Given the description of an element on the screen output the (x, y) to click on. 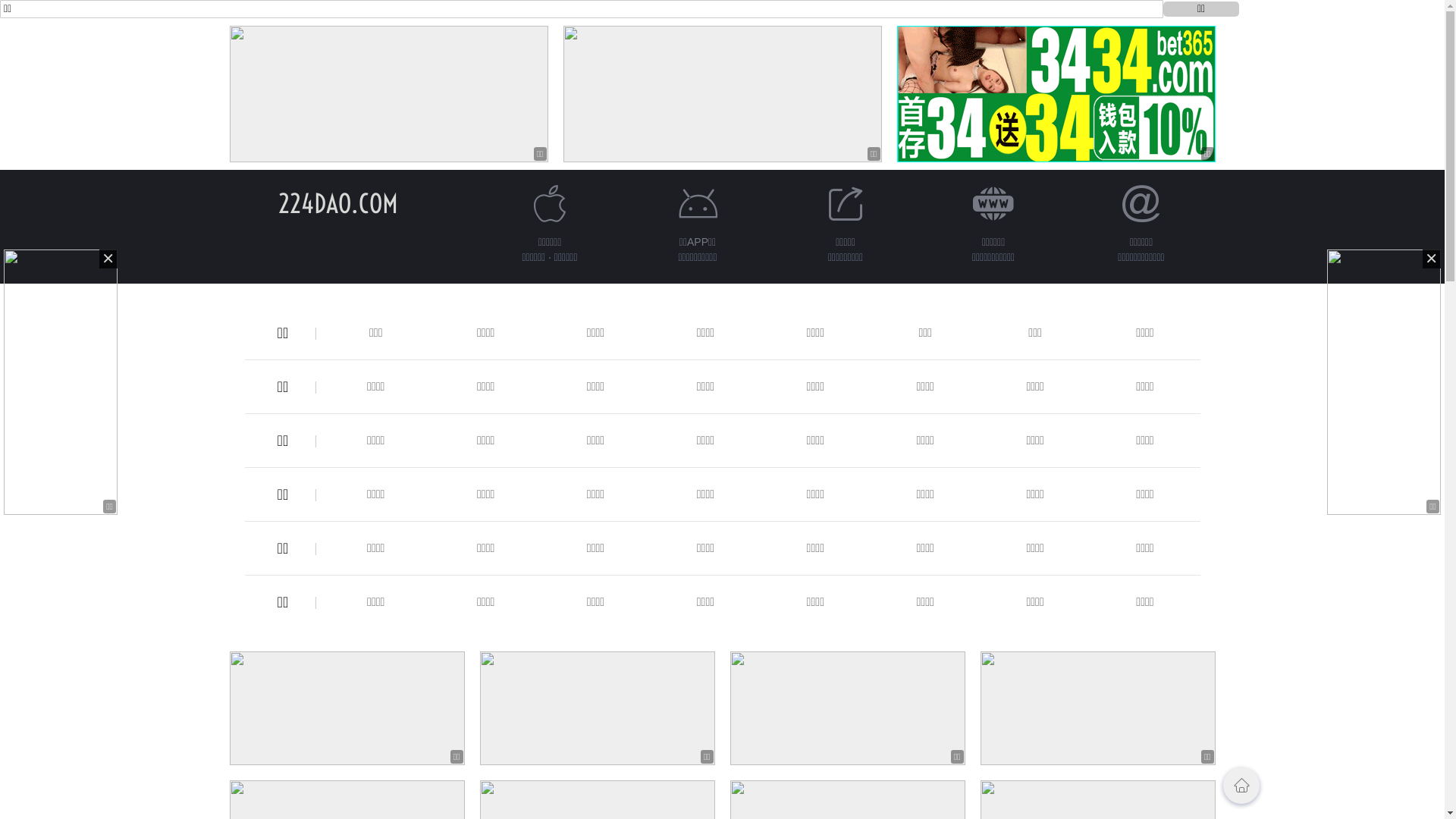
224DAO.COM Element type: text (337, 203)
